Given the description of an element on the screen output the (x, y) to click on. 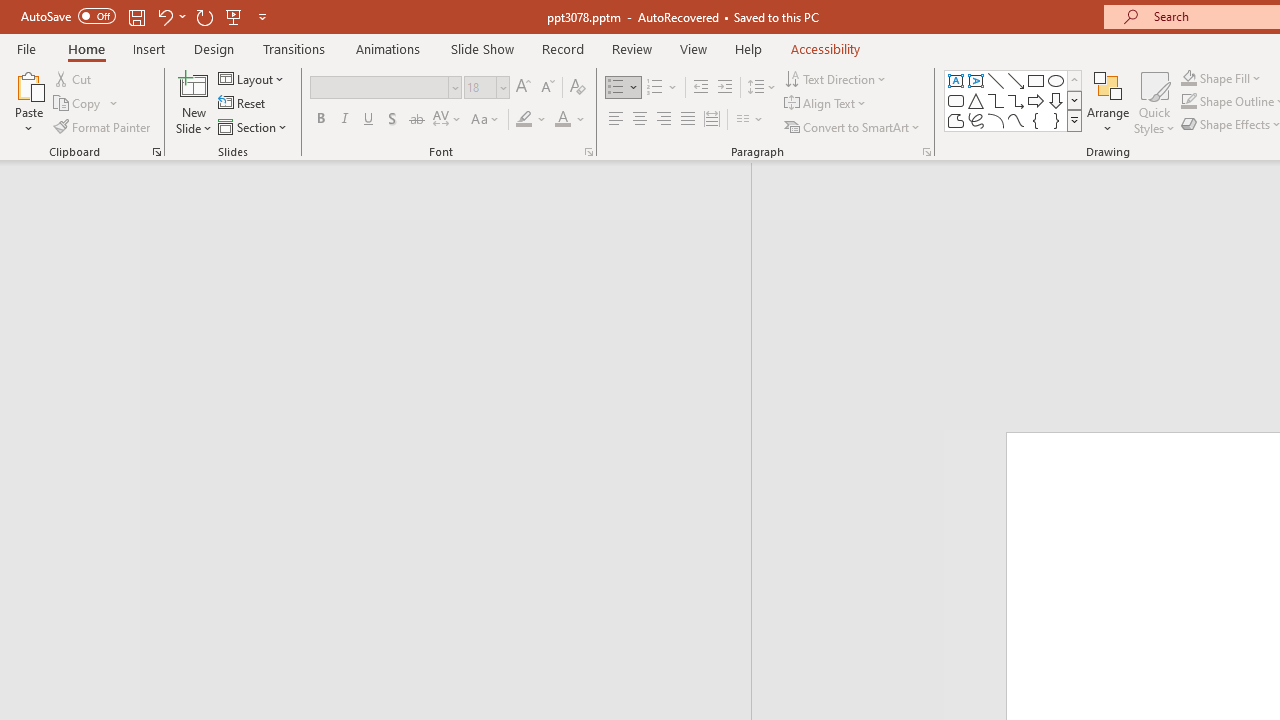
Outline (384, 215)
Shape Fill Dark Green, Accent 2 (1188, 78)
